Given the description of an element on the screen output the (x, y) to click on. 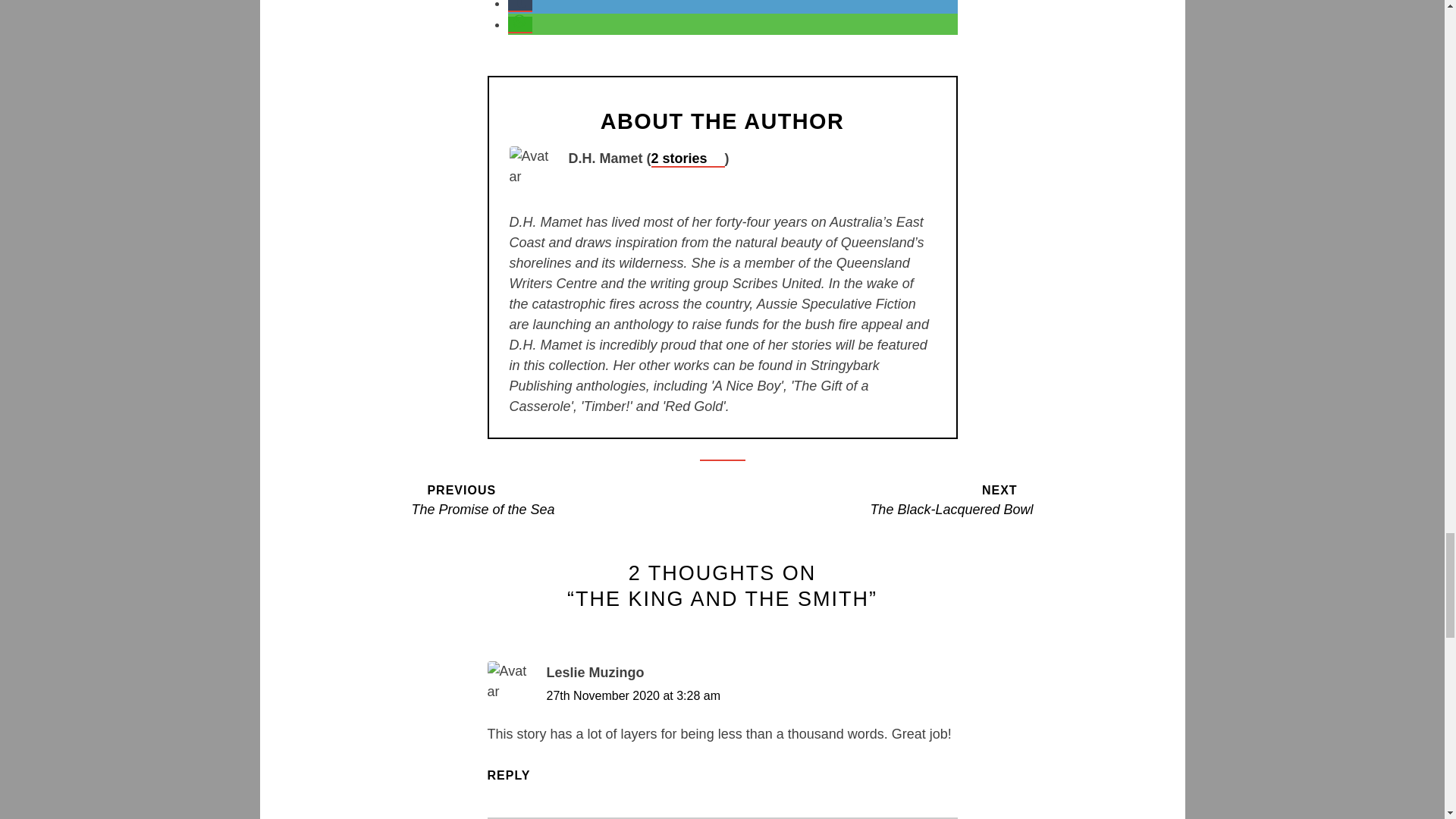
Share on Whatsapp (520, 24)
27th November 2020 at 3:28 am (632, 695)
REPLY (515, 775)
Share on tumblr (566, 498)
2 stories (520, 6)
